Given the description of an element on the screen output the (x, y) to click on. 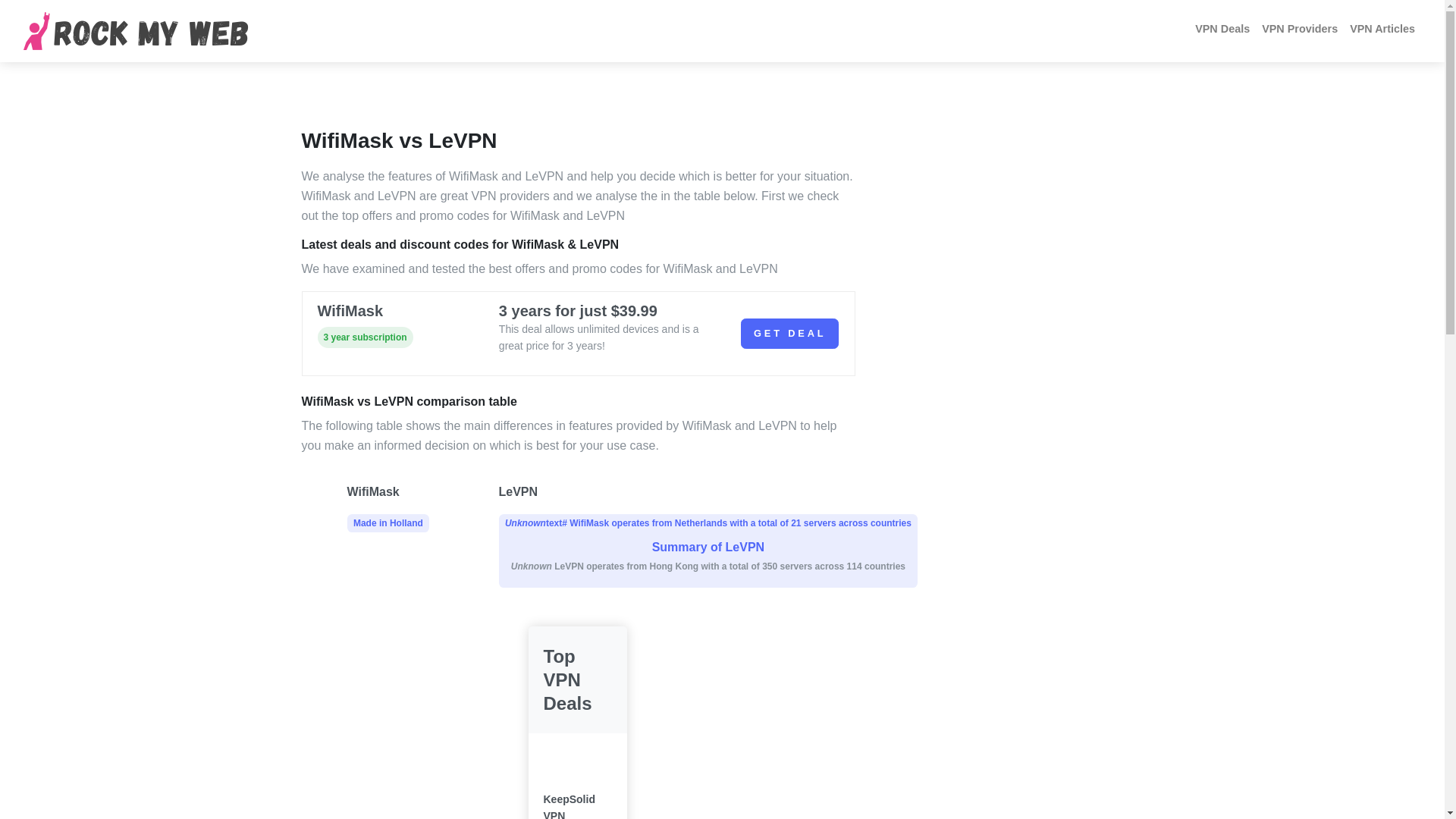
VPN Providers (1299, 29)
KeepSolid VPN Unlimited (388, 507)
Top VPN Deals (577, 805)
VPN Deals (576, 679)
VPN Articles (1222, 29)
GET DEAL (1382, 29)
